Given the description of an element on the screen output the (x, y) to click on. 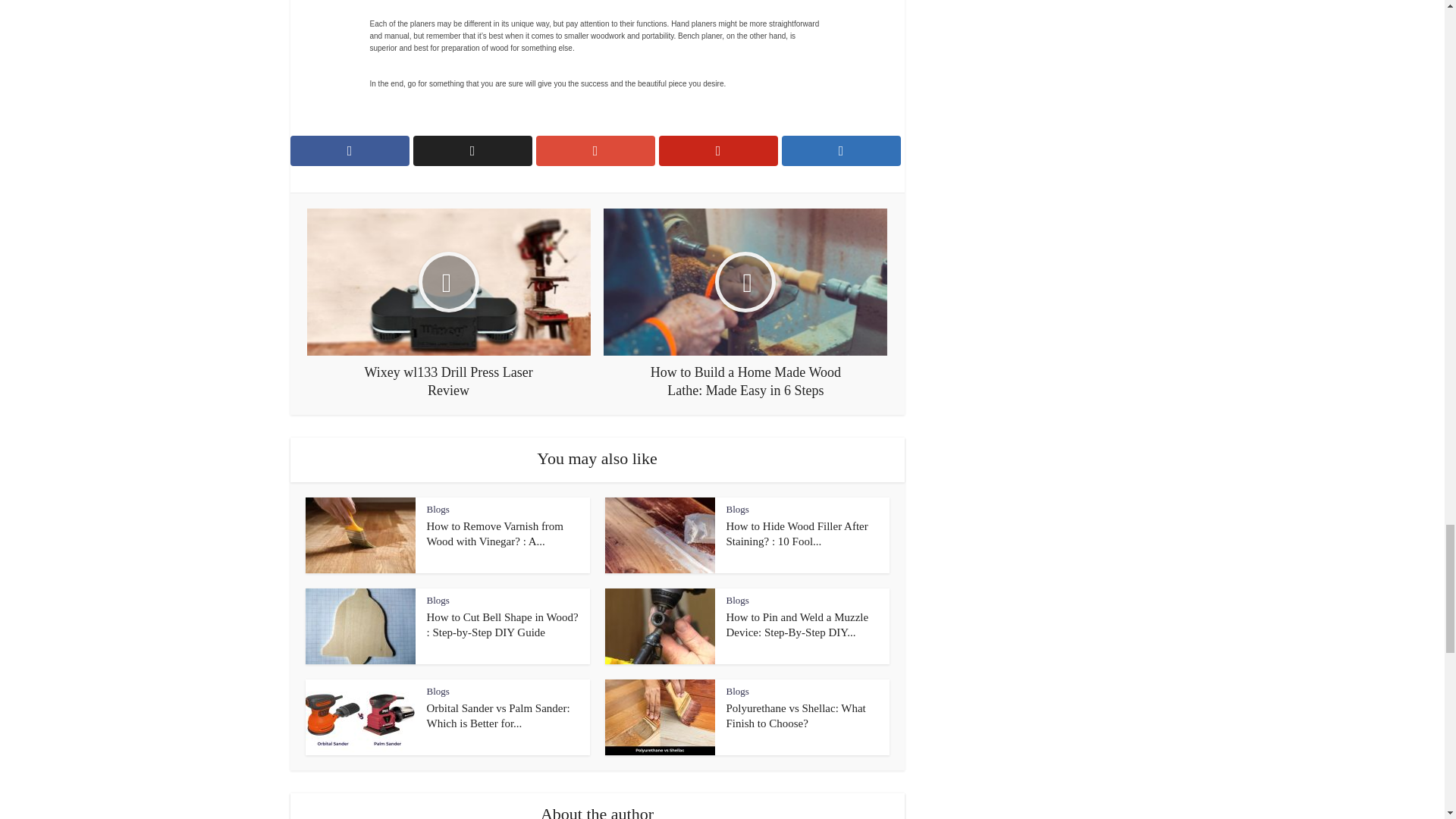
How to Pin and Weld a Muzzle Device: Step-By-Step DIY Guide (797, 624)
Polyurethane vs Shellac: What Finish to Choose? (796, 715)
How to Cut Bell Shape in Wood? : Step-by-Step DIY Guide (502, 624)
